Given the description of an element on the screen output the (x, y) to click on. 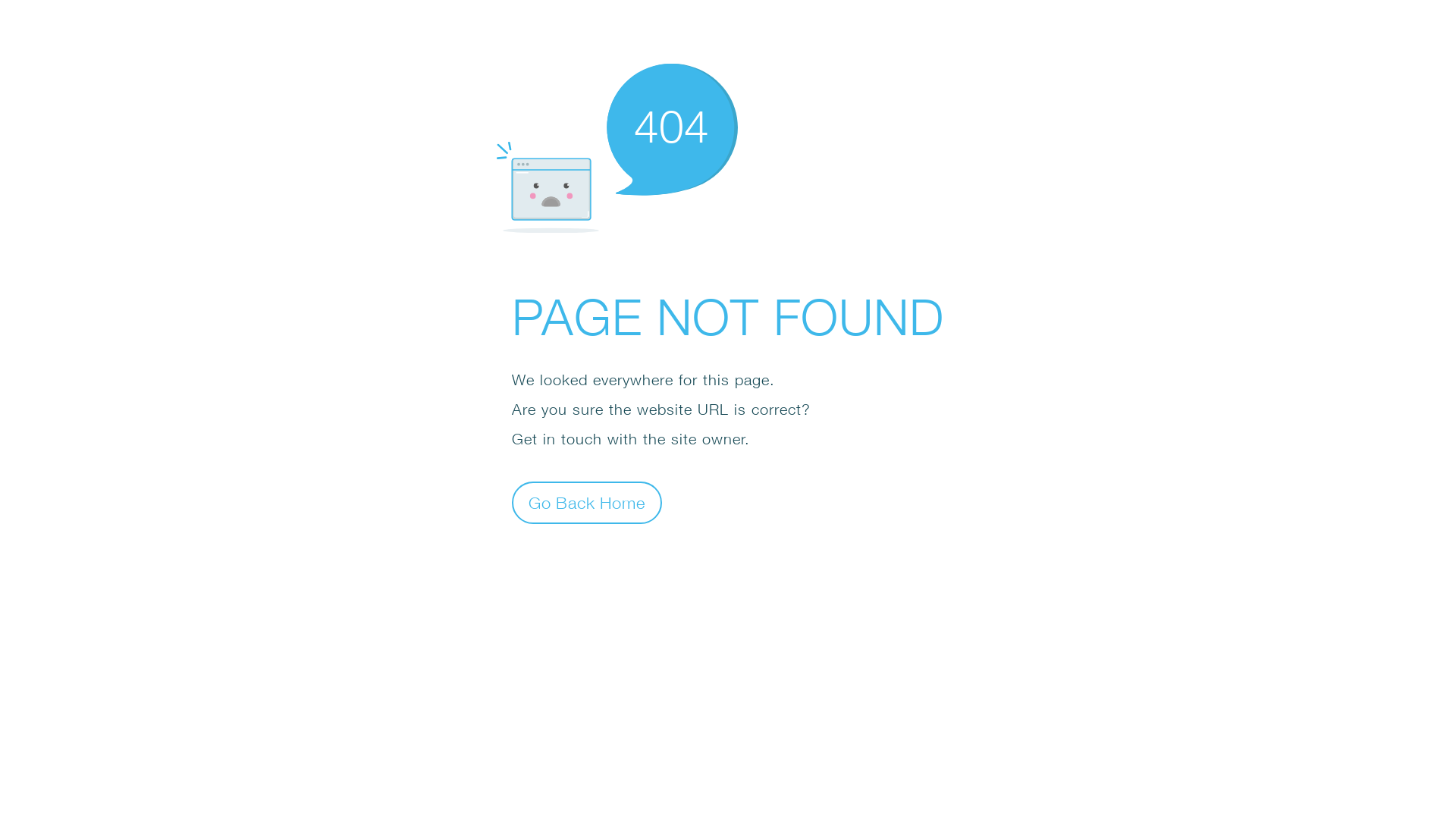
Go Back Home Element type: text (586, 502)
